Given the description of an element on the screen output the (x, y) to click on. 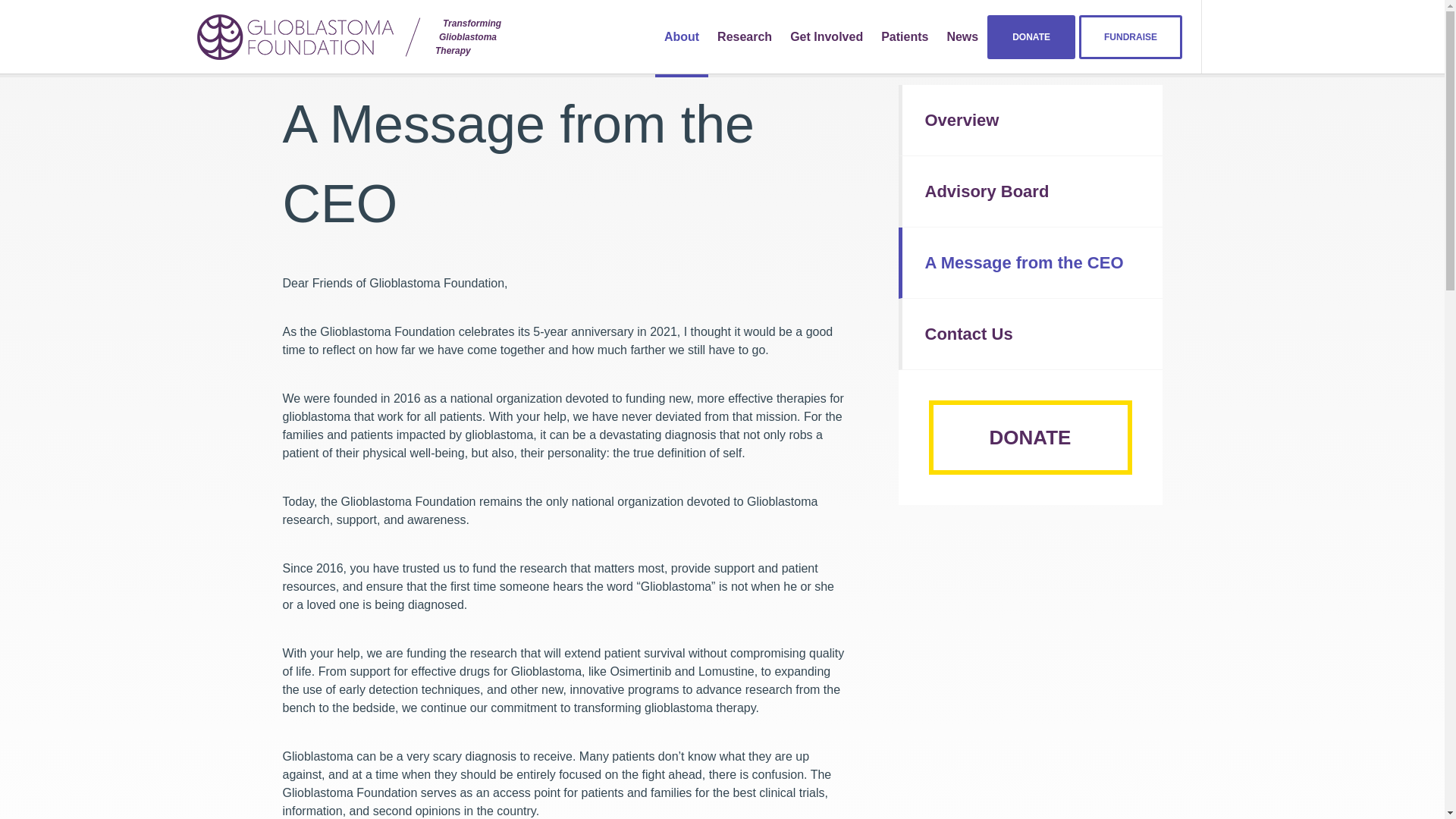
Get Involved (344, 35)
FUNDRAISE (826, 37)
DONATE (1130, 36)
Patients (1031, 36)
Research (904, 37)
